Given the description of an element on the screen output the (x, y) to click on. 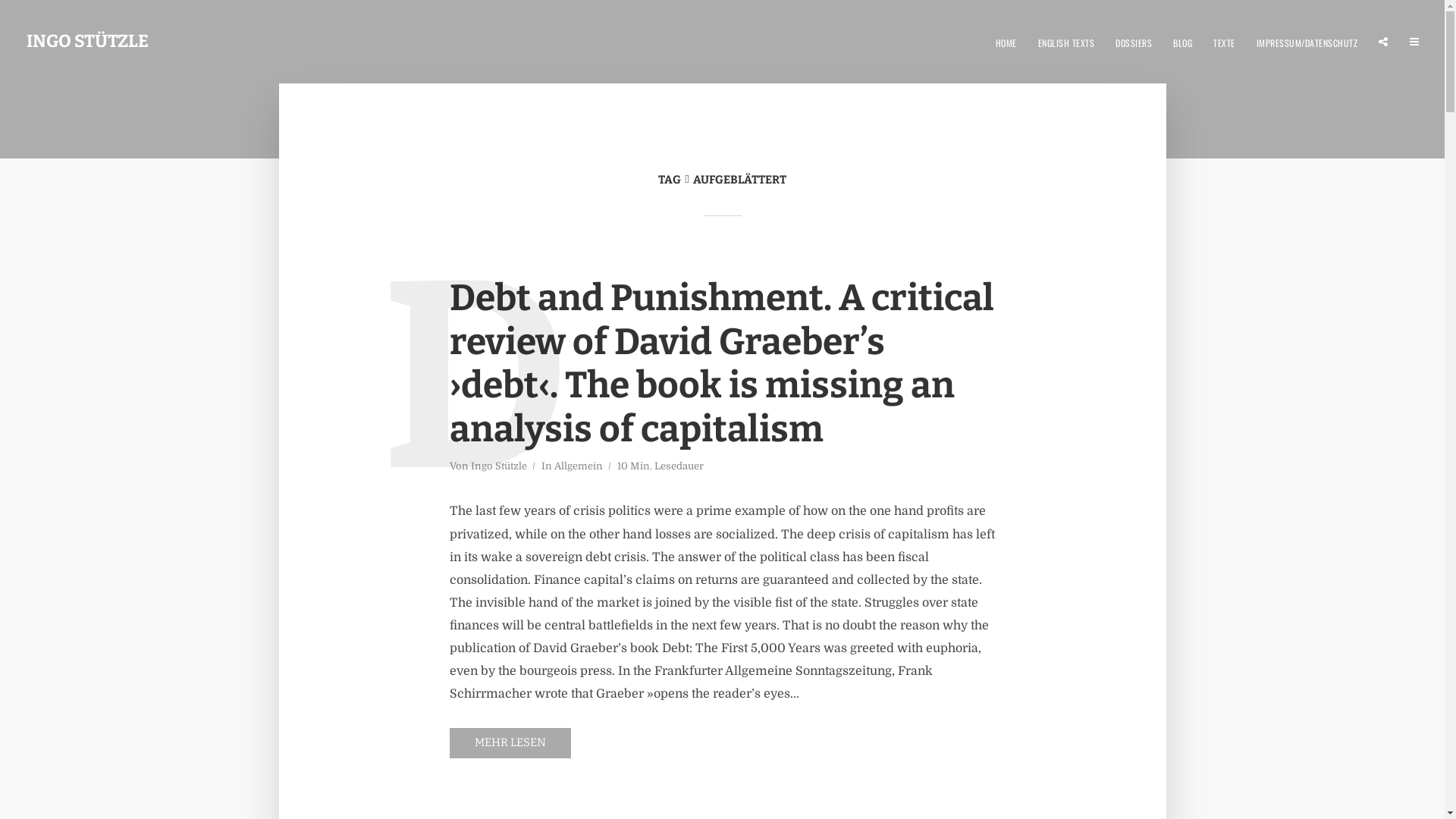
Allgemein Element type: text (577, 467)
BLOG Element type: text (1182, 40)
DOSSIERS Element type: text (1133, 40)
ENGLISH TEXTS Element type: text (1065, 40)
HOME Element type: text (1005, 40)
MEHR LESEN Element type: text (509, 743)
TEXTE Element type: text (1223, 40)
IMPRESSUM/DATENSCHUTZ Element type: text (1306, 40)
